Given the description of an element on the screen output the (x, y) to click on. 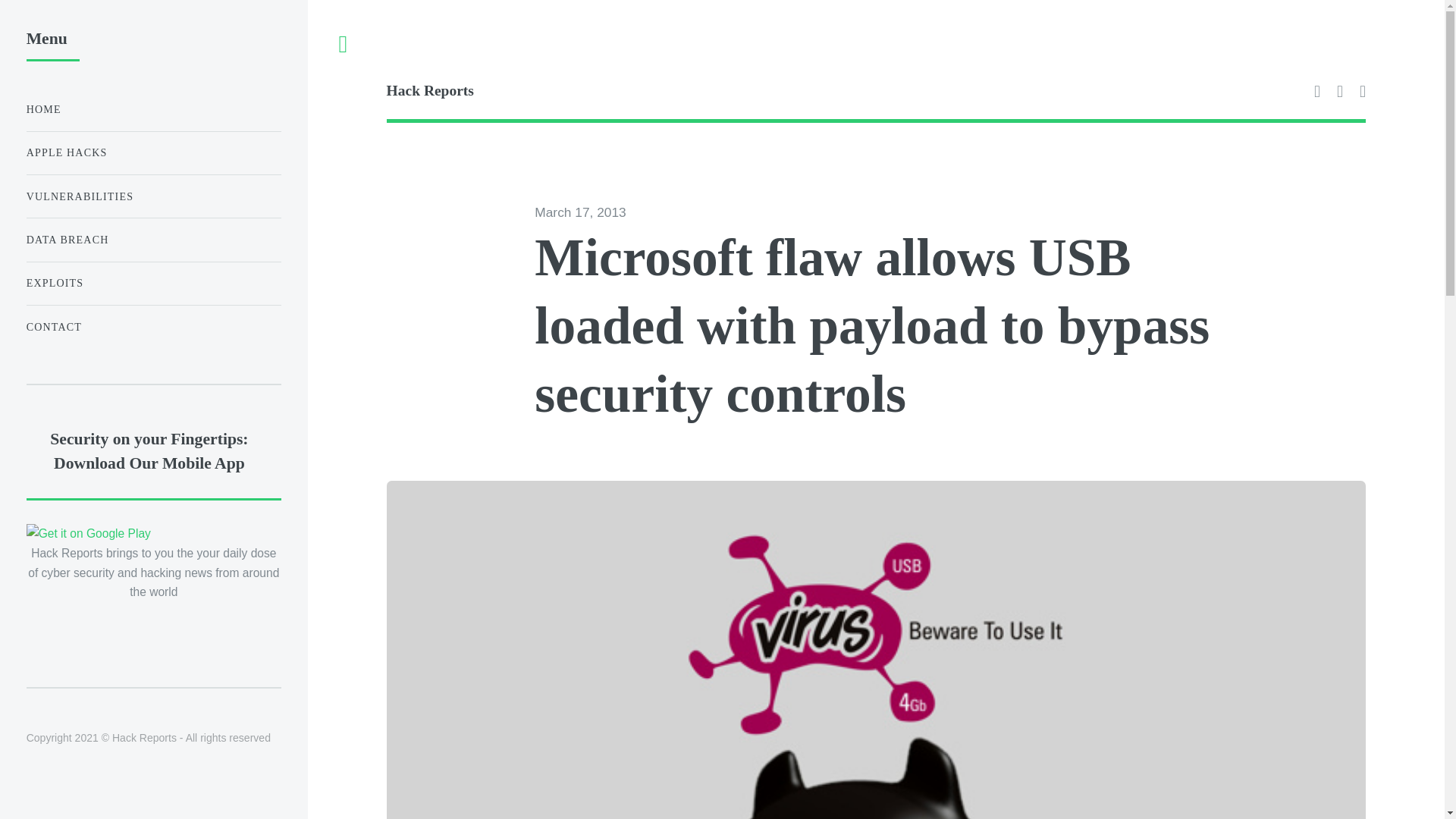
APPLE HACKS (153, 153)
Hack Reports (631, 92)
HOME (153, 109)
CONTACT (153, 327)
EXPLOITS (153, 283)
VULNERABILITIES (153, 196)
DATA BREACH (153, 239)
